Given the description of an element on the screen output the (x, y) to click on. 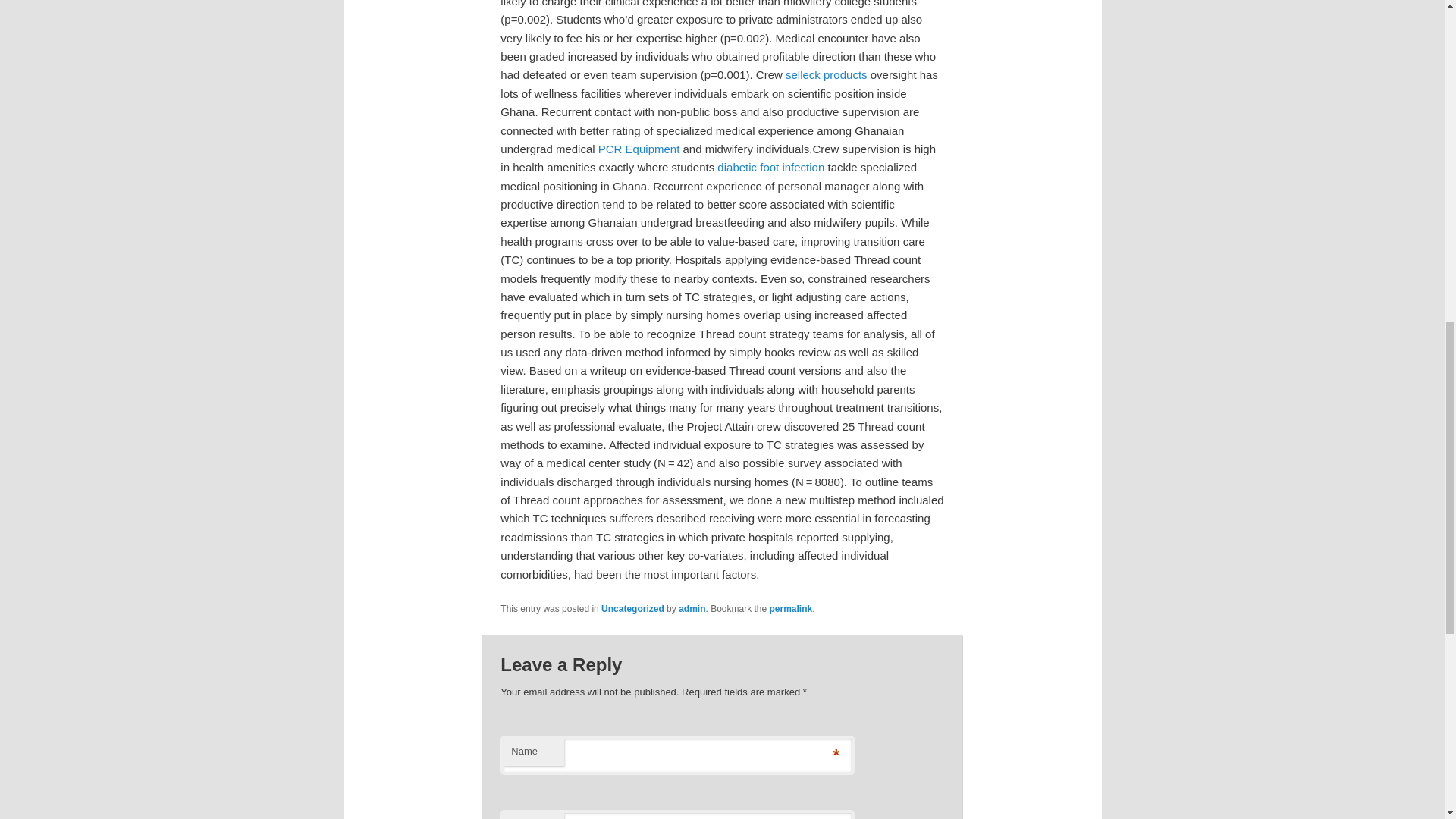
View all posts in Uncategorized (632, 608)
admin (691, 608)
selleck products (826, 74)
permalink (791, 608)
PCR Equipment (638, 148)
Uncategorized (632, 608)
diabetic foot infection (770, 166)
